Given the description of an element on the screen output the (x, y) to click on. 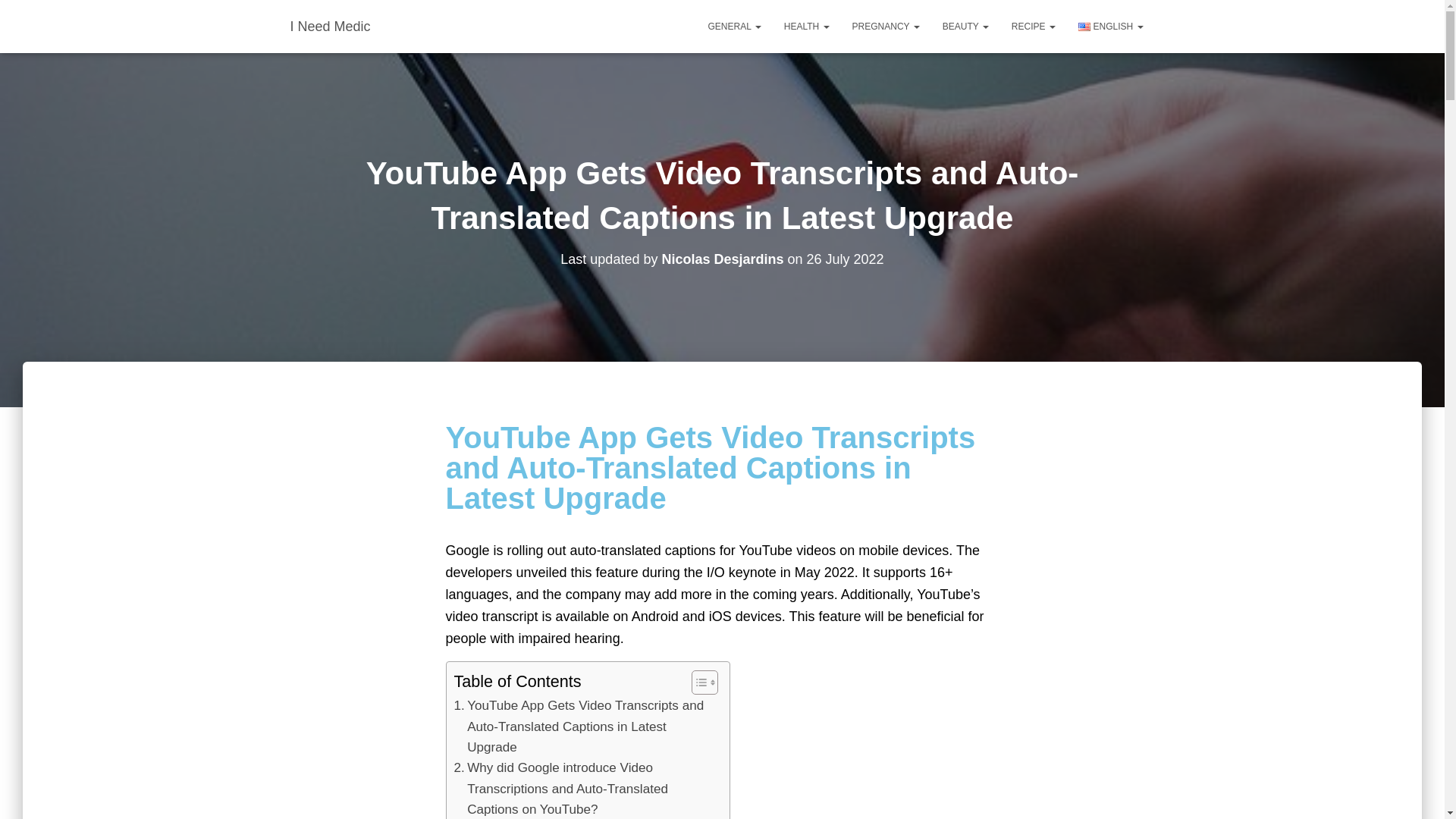
BEAUTY (965, 26)
I Need Medic (330, 26)
Beauty (965, 26)
GENERAL (735, 26)
ENGLISH (1110, 26)
Nicolas Desjardins (722, 258)
PREGNANCY (886, 26)
General (735, 26)
I Need Medic (330, 26)
Pregnancy (886, 26)
RECIPE (1033, 26)
Health (807, 26)
Recipe (1033, 26)
